Given the description of an element on the screen output the (x, y) to click on. 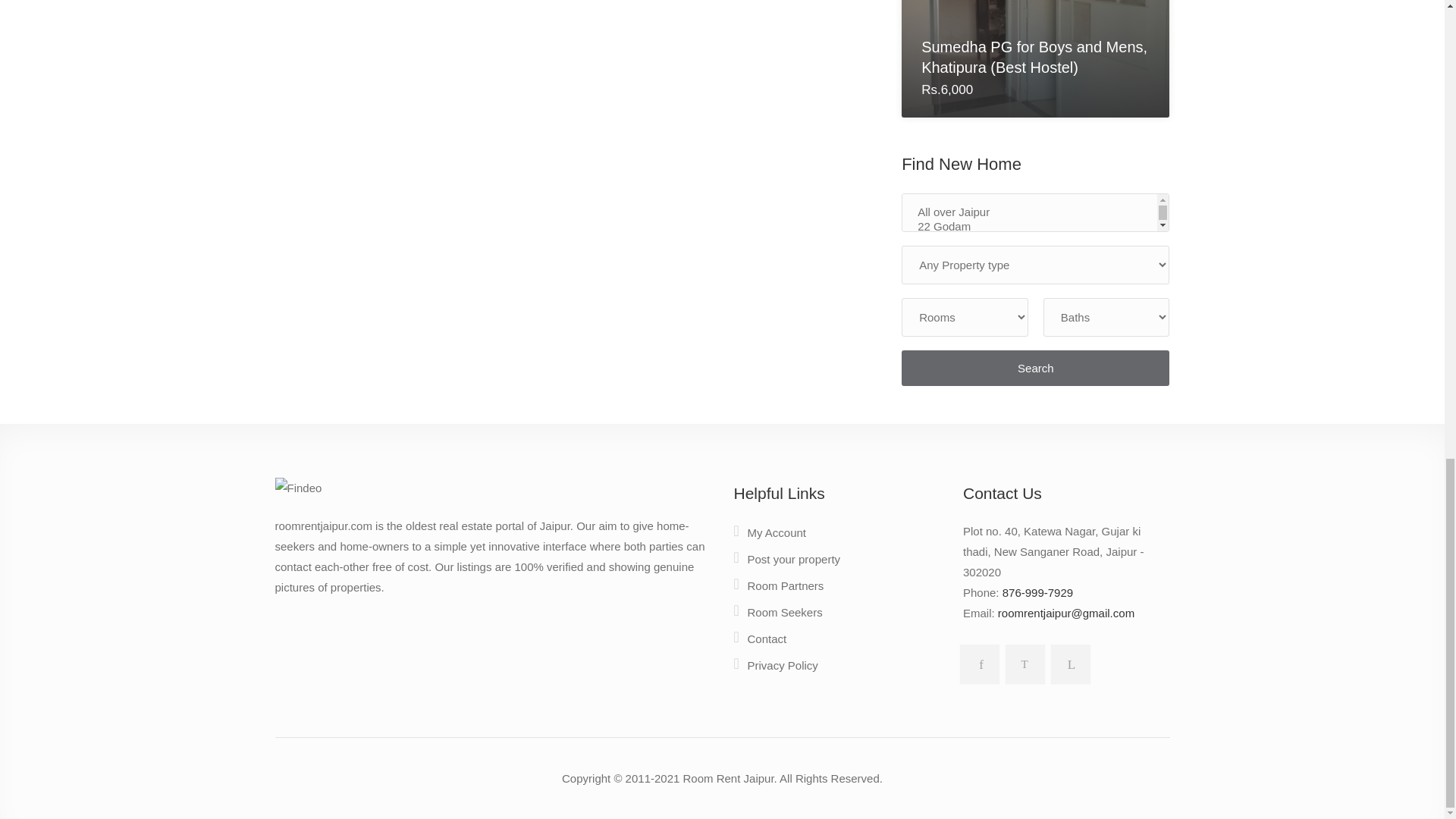
linkedin (1067, 661)
facebook (975, 661)
twitter (1022, 661)
Search (1035, 367)
